Given the description of an element on the screen output the (x, y) to click on. 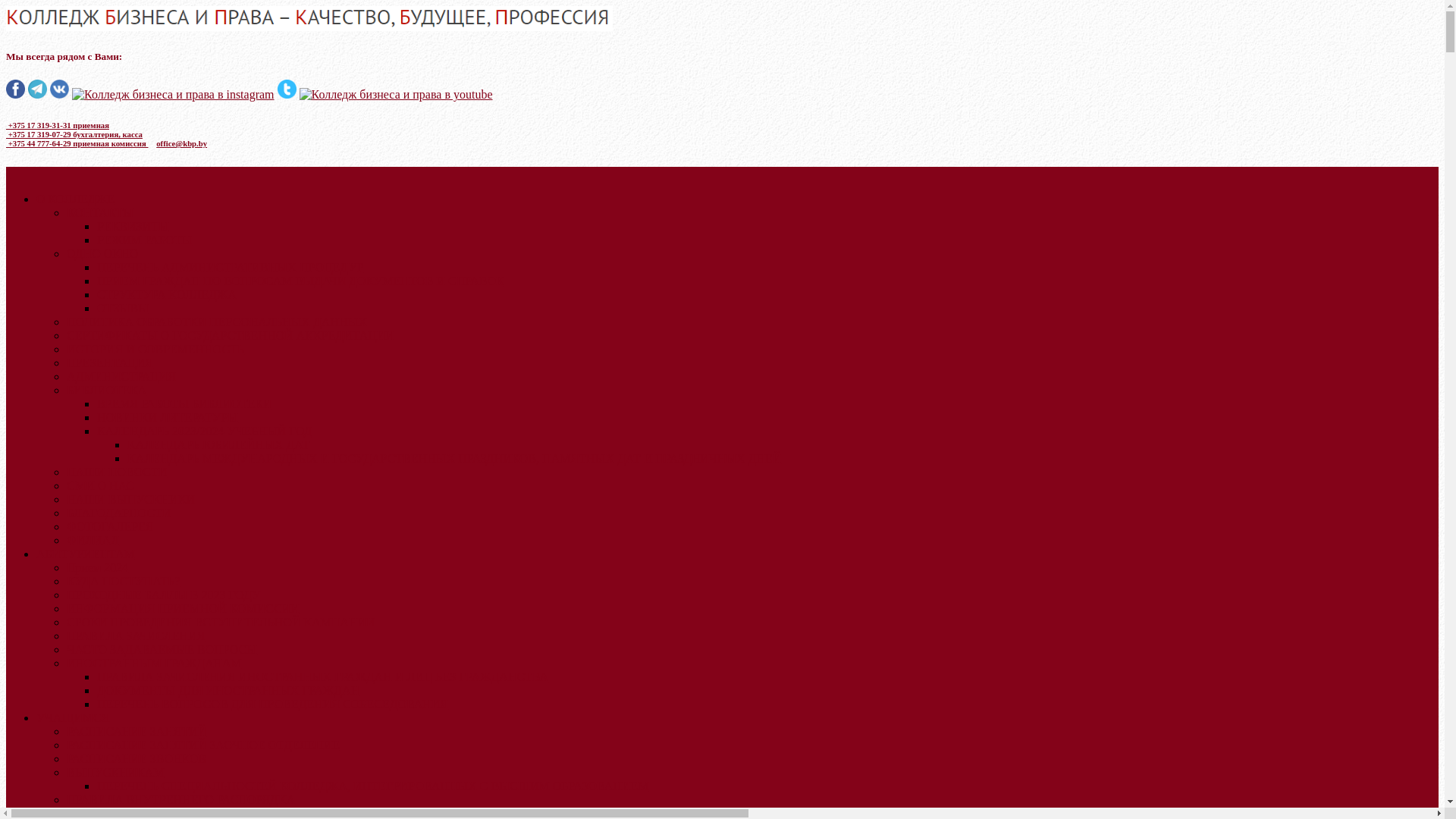
office@kbp.by Element type: text (181, 142)
